Given the description of an element on the screen output the (x, y) to click on. 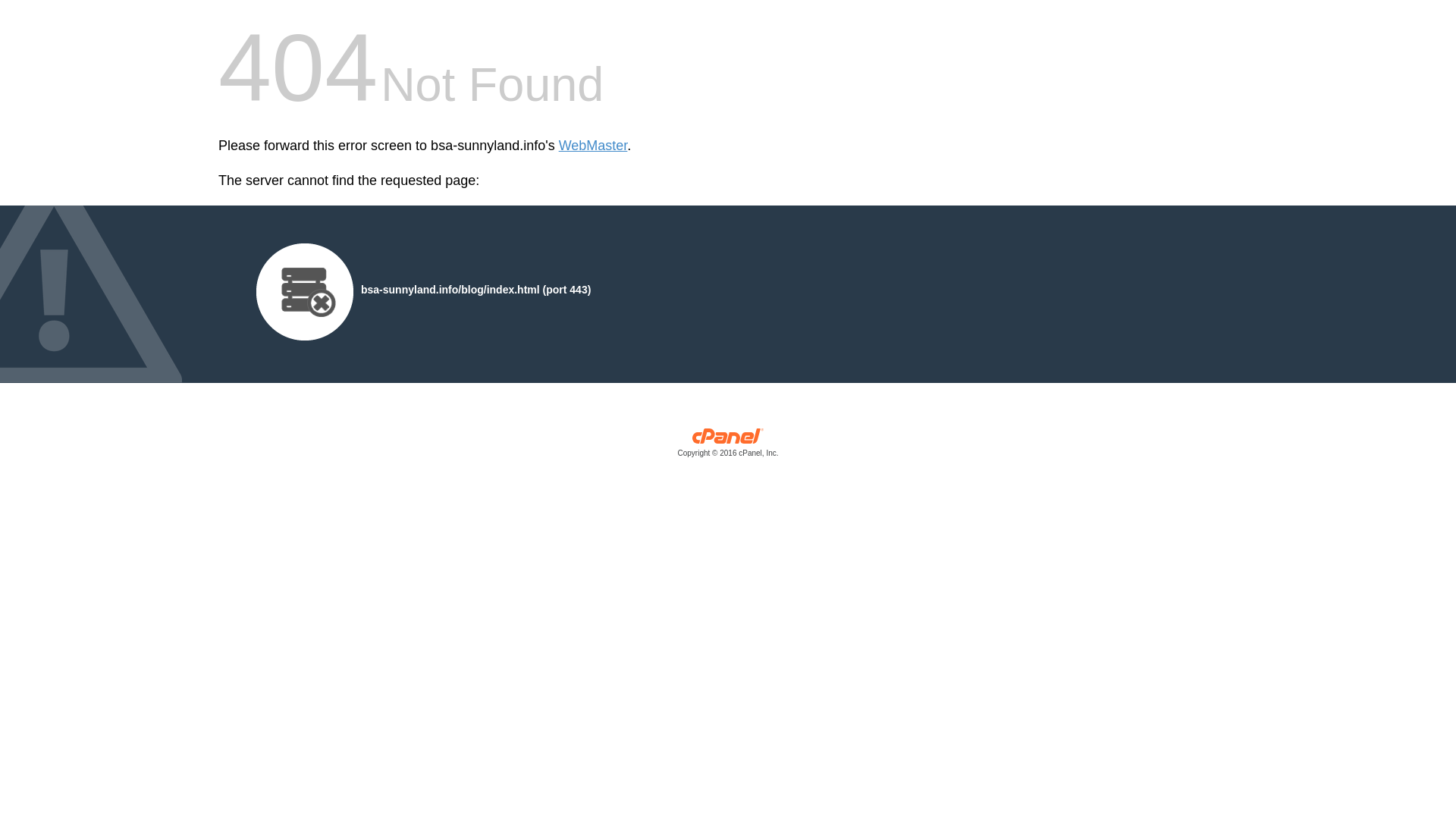
cPanel, Inc. (727, 446)
WebMaster (593, 145)
